Given the description of an element on the screen output the (x, y) to click on. 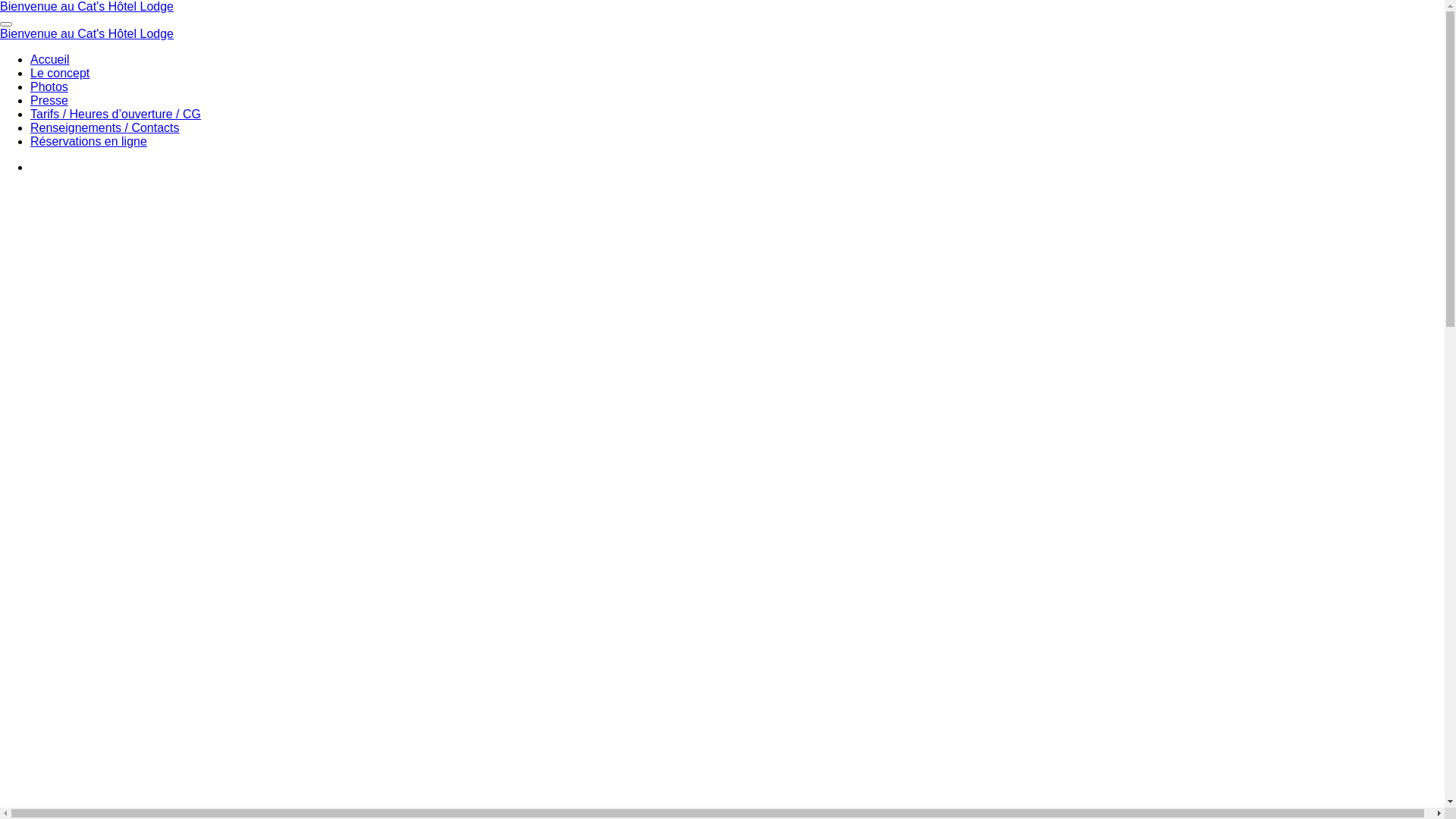
Renseignements / Contacts Element type: text (104, 127)
Le concept Element type: text (59, 72)
Presse Element type: text (49, 100)
Accueil Element type: text (49, 59)
Photos Element type: text (49, 86)
